Given the description of an element on the screen output the (x, y) to click on. 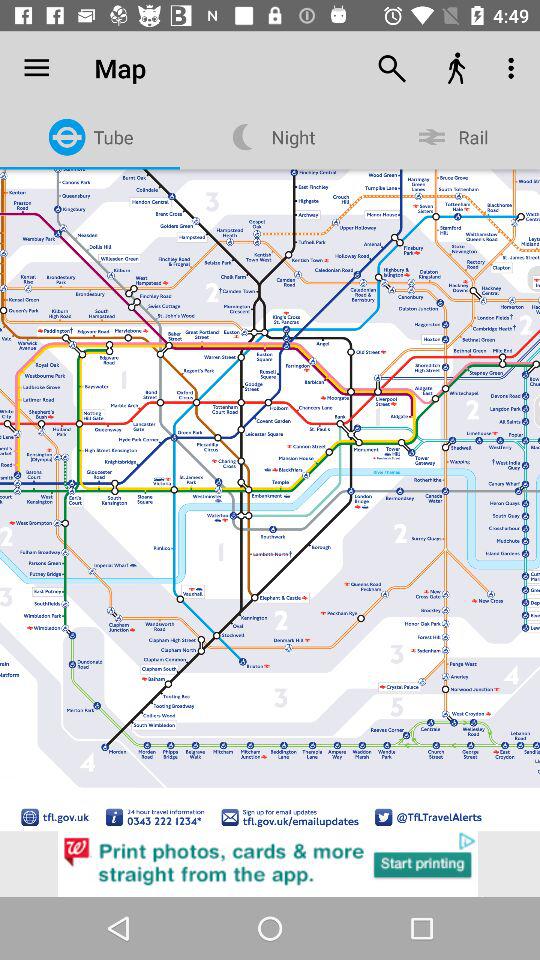
press item below map icon (270, 462)
